Given the description of an element on the screen output the (x, y) to click on. 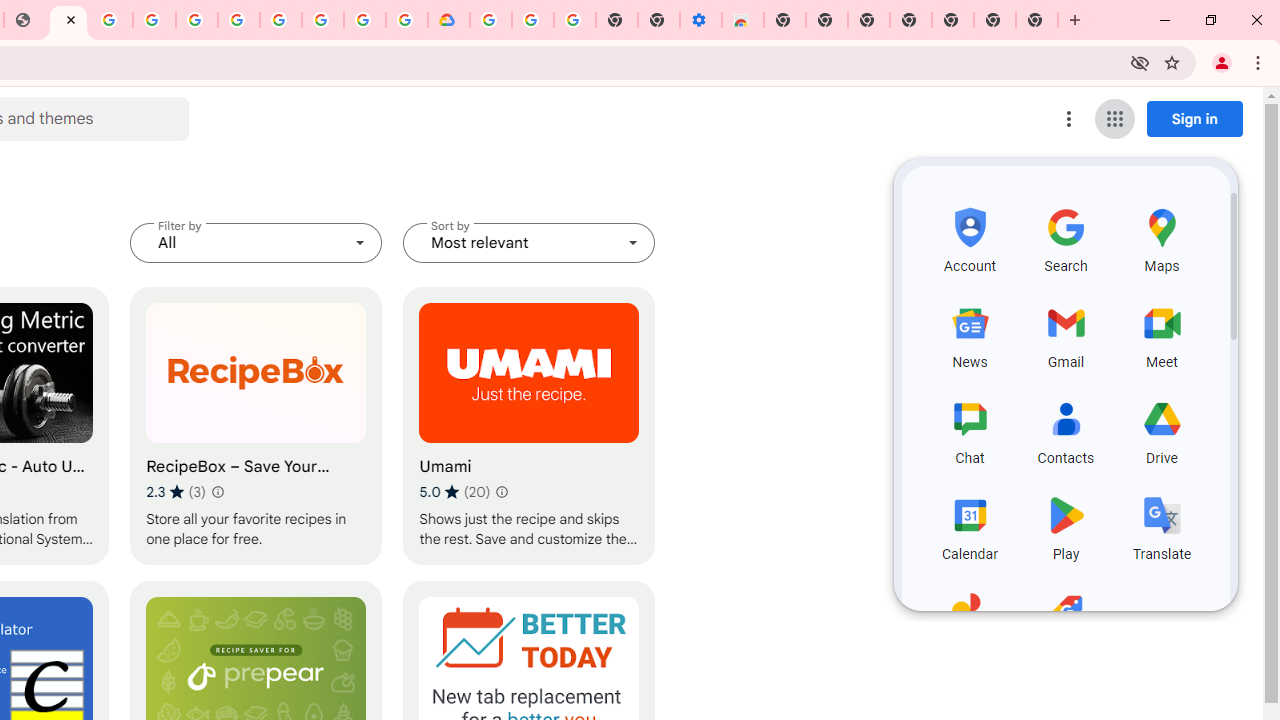
Umami (529, 426)
New Tab (1037, 20)
More options menu (1069, 118)
Settings - Accessibility (700, 20)
Chrome Web Store - Accessibility extensions (742, 20)
Sign in - Google Accounts (490, 20)
